Given the description of an element on the screen output the (x, y) to click on. 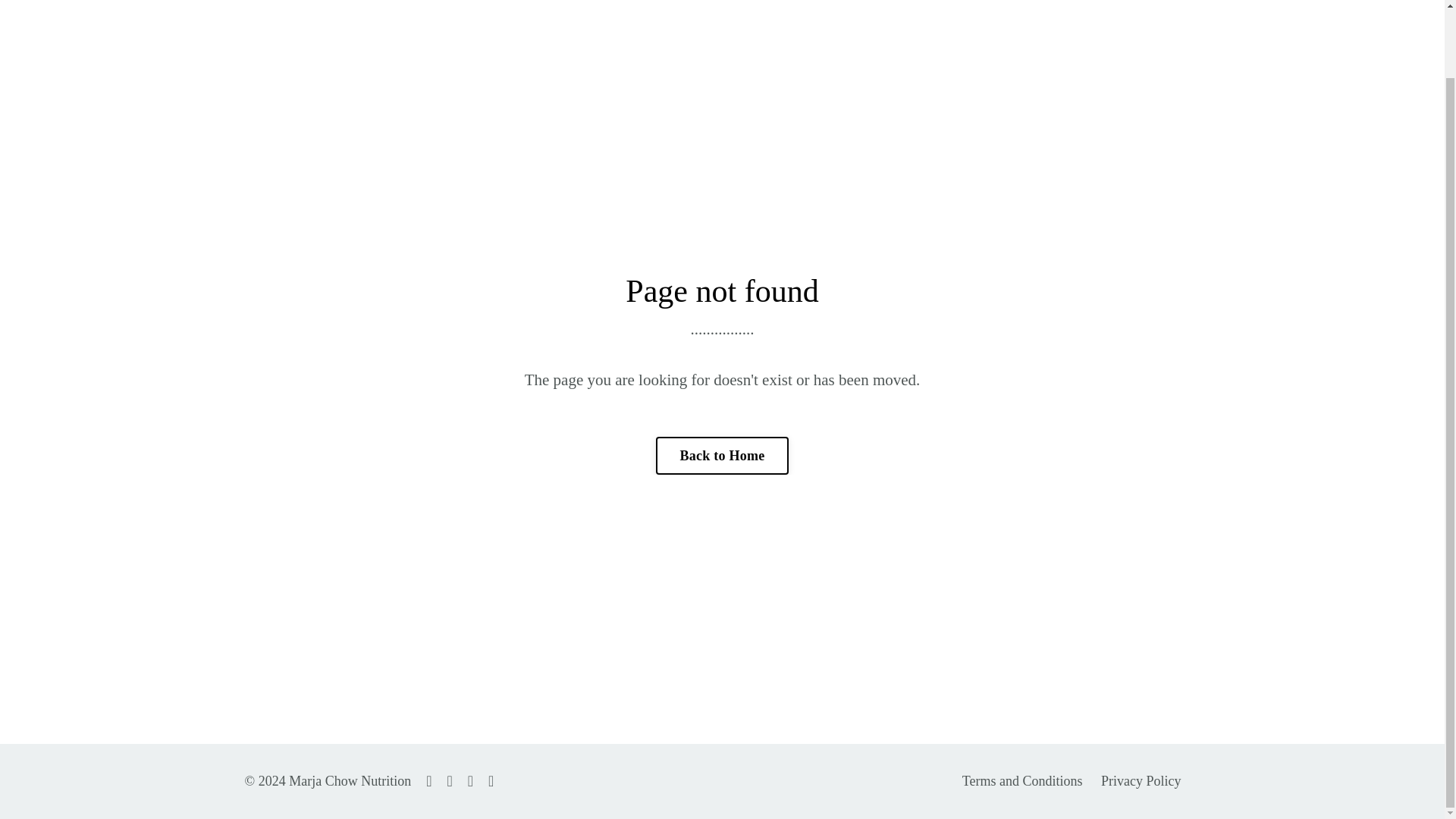
Privacy Policy (1140, 780)
Terms and Conditions (1024, 780)
Back to Home (722, 455)
